Given the description of an element on the screen output the (x, y) to click on. 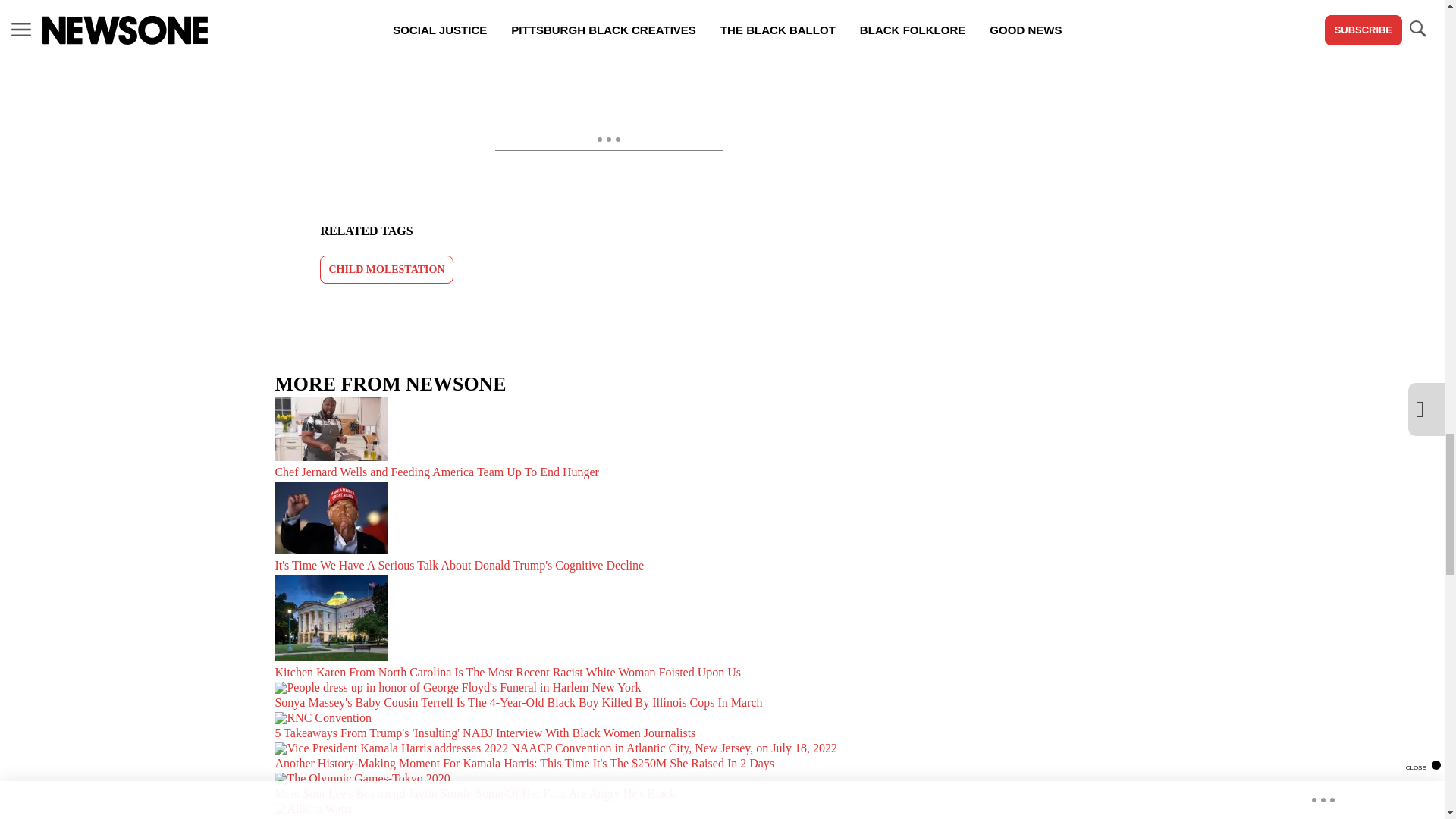
CHILD MOLESTATION (386, 269)
Chef Jernard Wells and Feeding America Team Up To End Hunger (585, 439)
